Given the description of an element on the screen output the (x, y) to click on. 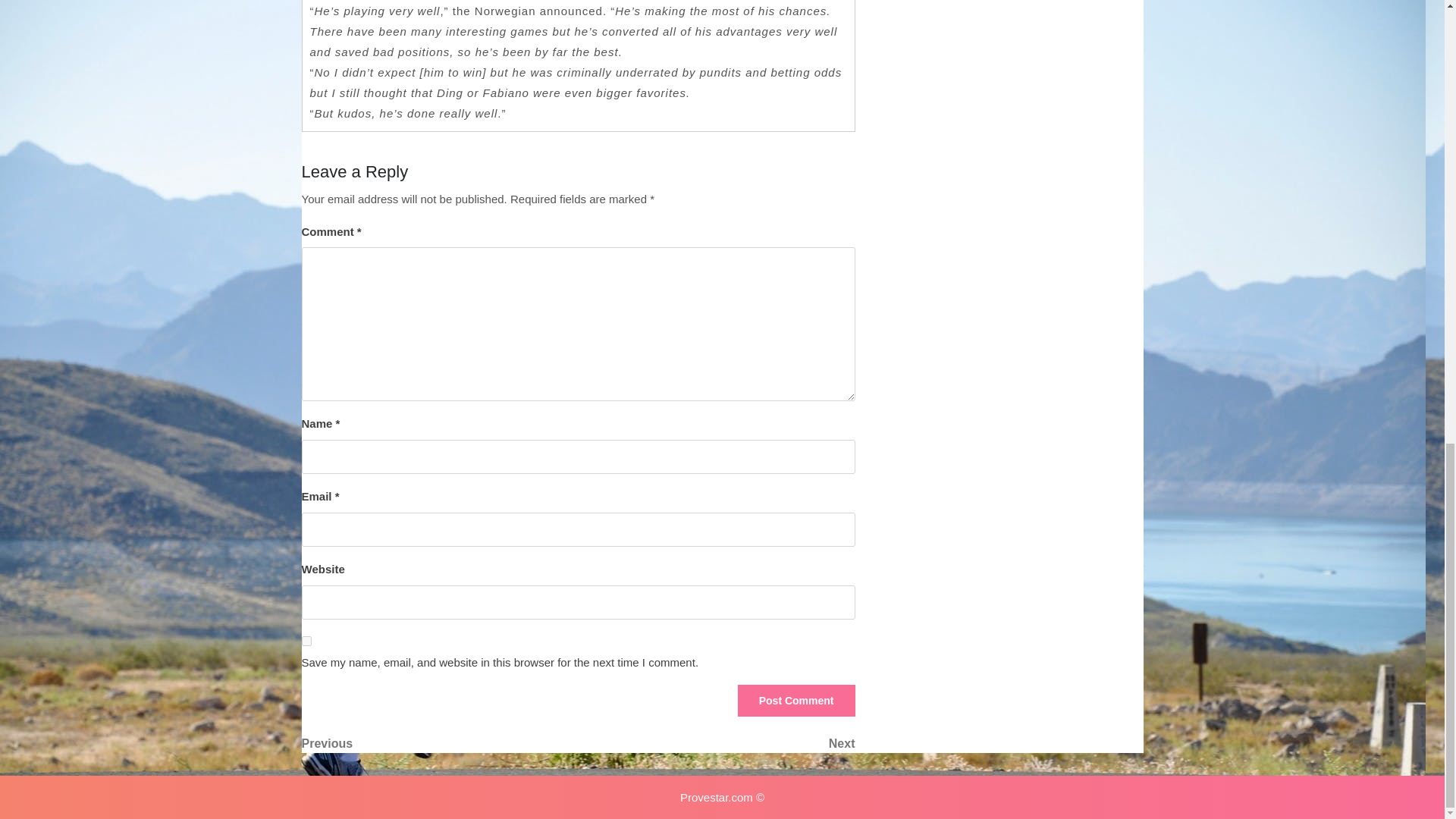
Post Comment (797, 700)
Post Comment (797, 700)
yes (716, 743)
